Given the description of an element on the screen output the (x, y) to click on. 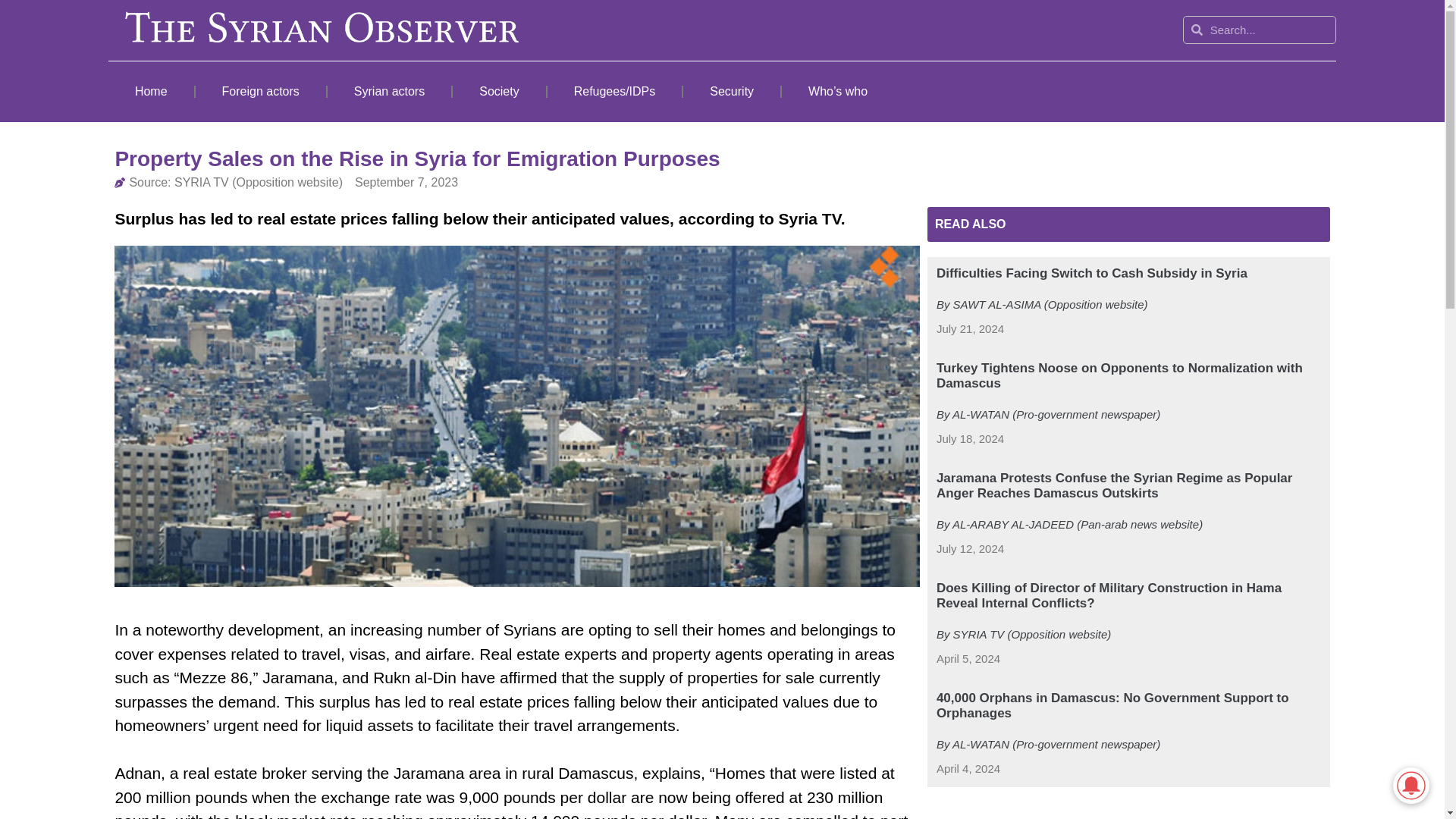
Home (150, 91)
April 5, 2024 (968, 659)
April 4, 2024 (968, 769)
July 12, 2024 (970, 548)
Foreign actors (260, 91)
Security (731, 91)
Difficulties Facing Switch to Cash Subsidy in Syria (1091, 273)
July 21, 2024 (970, 329)
July 18, 2024 (970, 438)
Society (498, 91)
Syrian actors (389, 91)
